Given the description of an element on the screen output the (x, y) to click on. 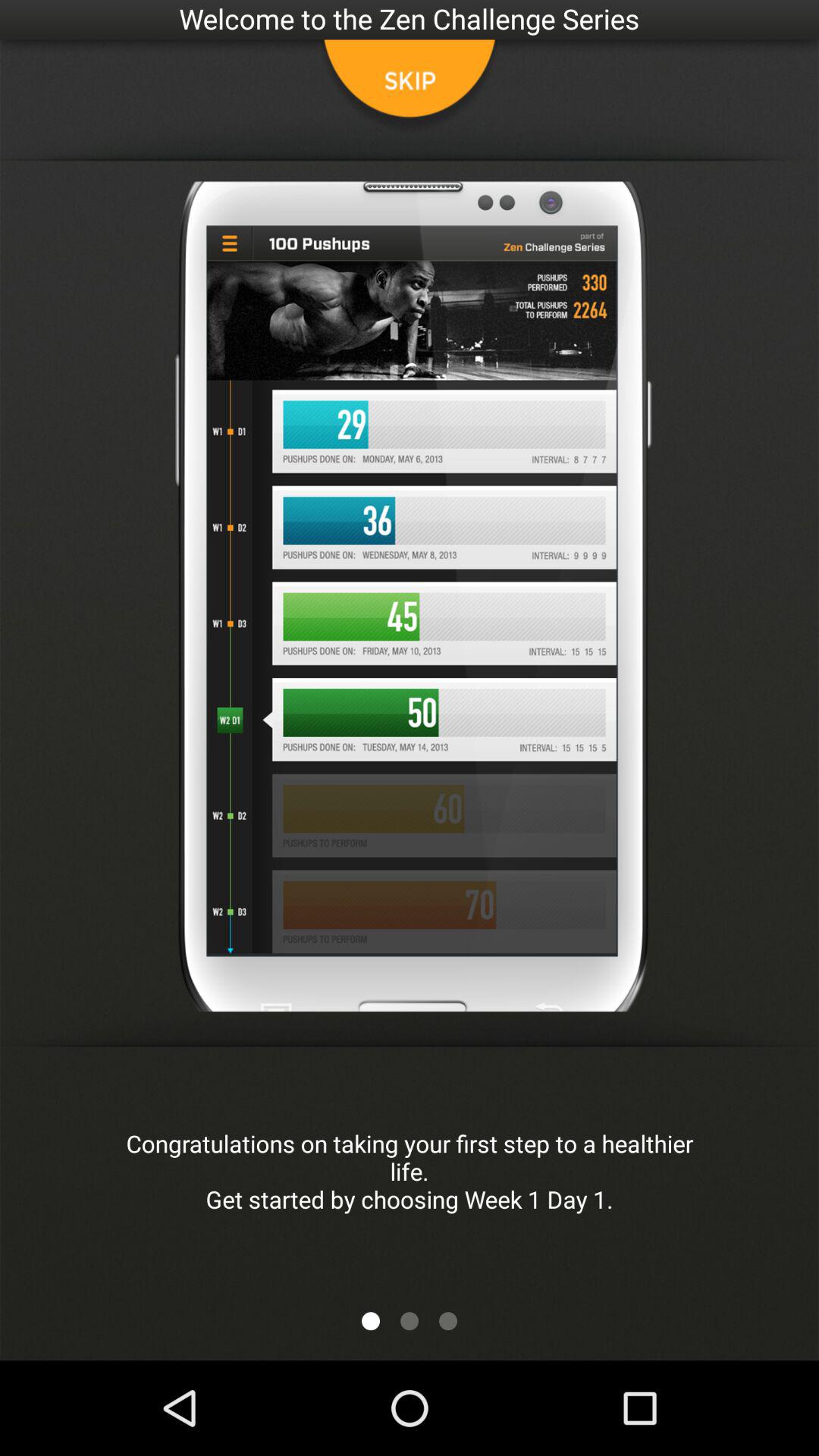
skip intro (409, 87)
